Given the description of an element on the screen output the (x, y) to click on. 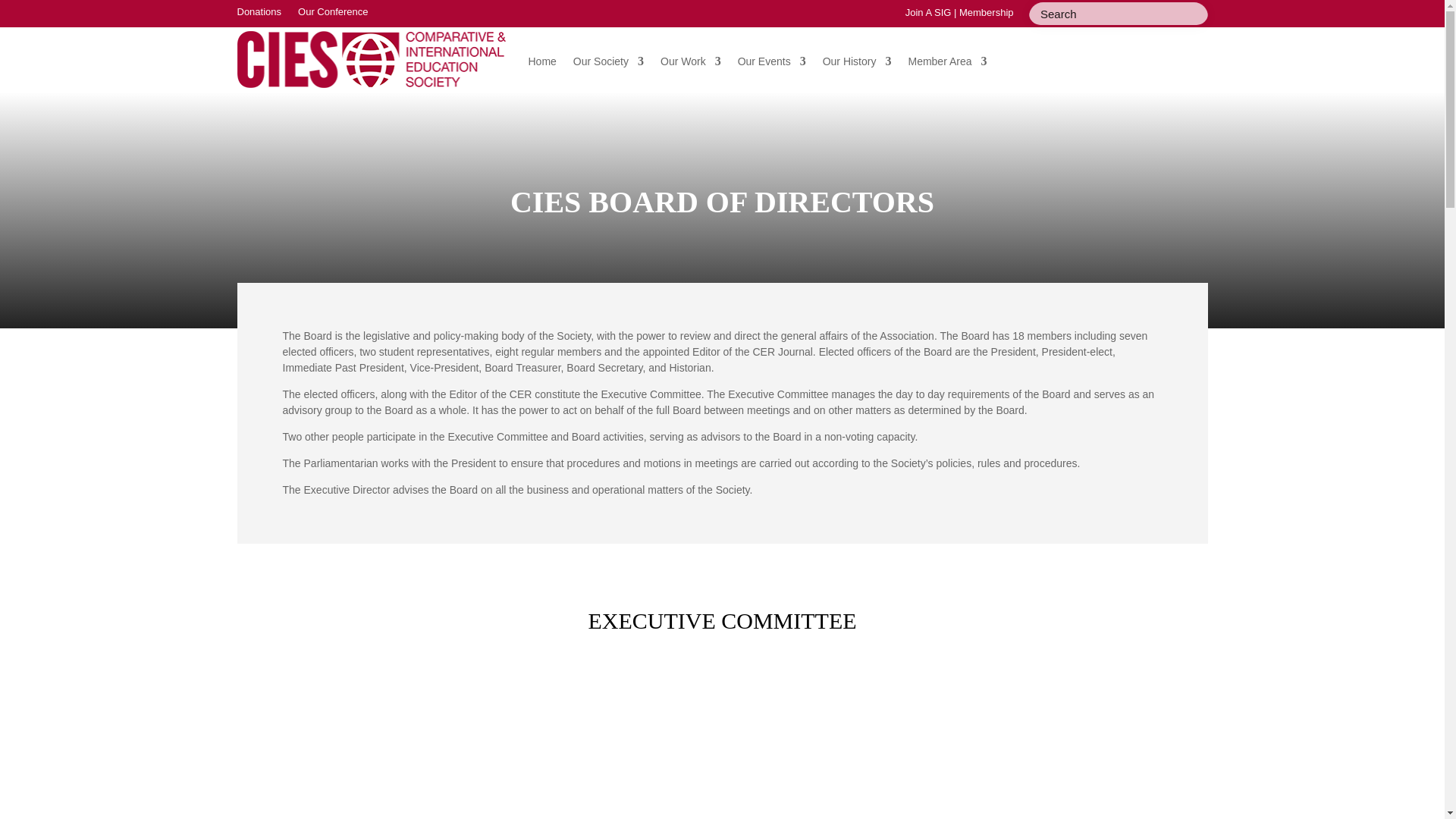
Our Society (608, 61)
Our Conference (333, 14)
Membership (986, 12)
Our Work (690, 61)
Our History (856, 61)
Join A SIG (928, 12)
Search (22, 13)
Our Events (772, 61)
Donations (258, 14)
